Given the description of an element on the screen output the (x, y) to click on. 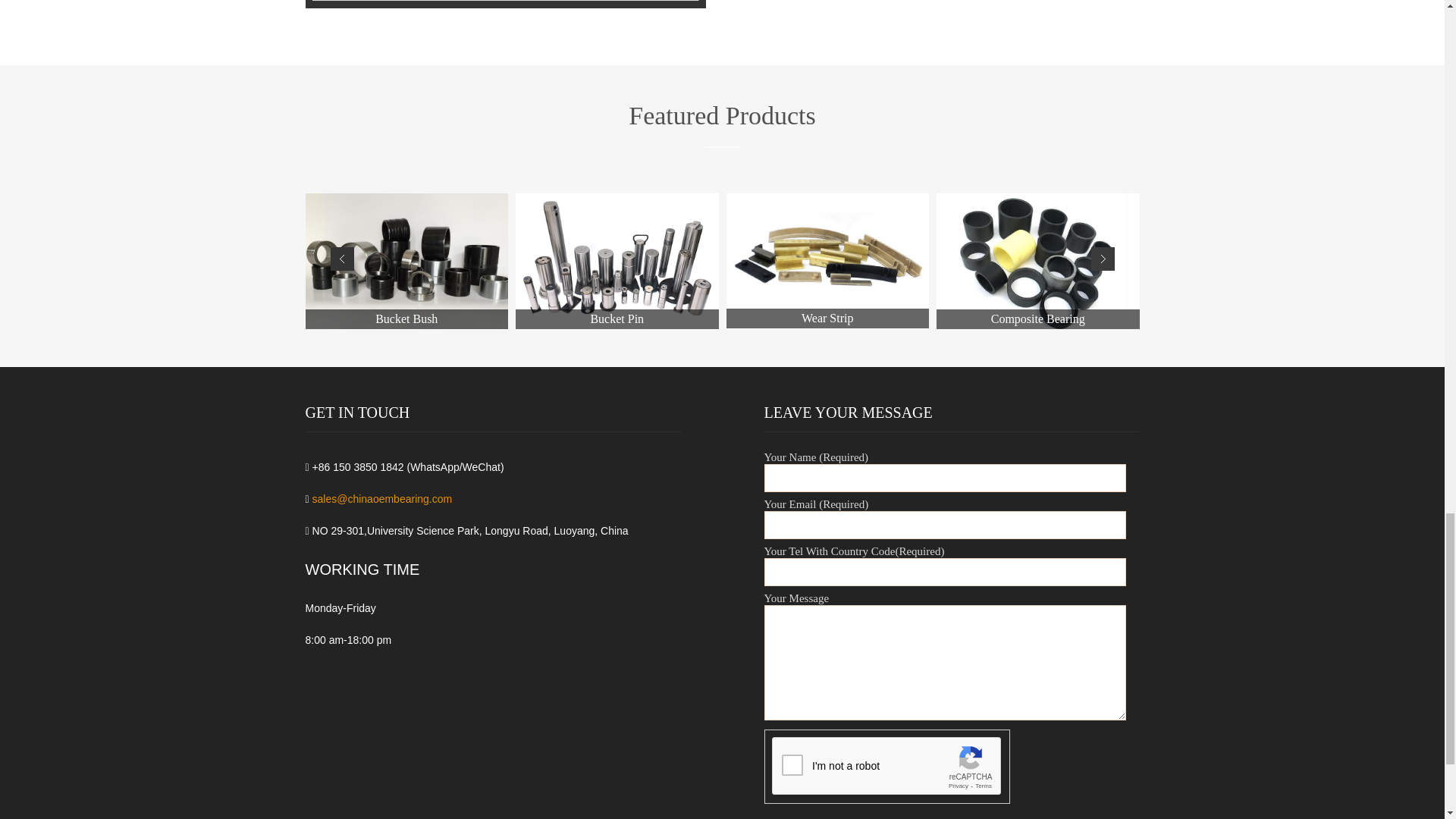
reCAPTCHA (887, 766)
Bucket Pin (617, 261)
Bucket Bush (406, 261)
Wear Strip (828, 260)
Composite Bearing (1038, 261)
